Given the description of an element on the screen output the (x, y) to click on. 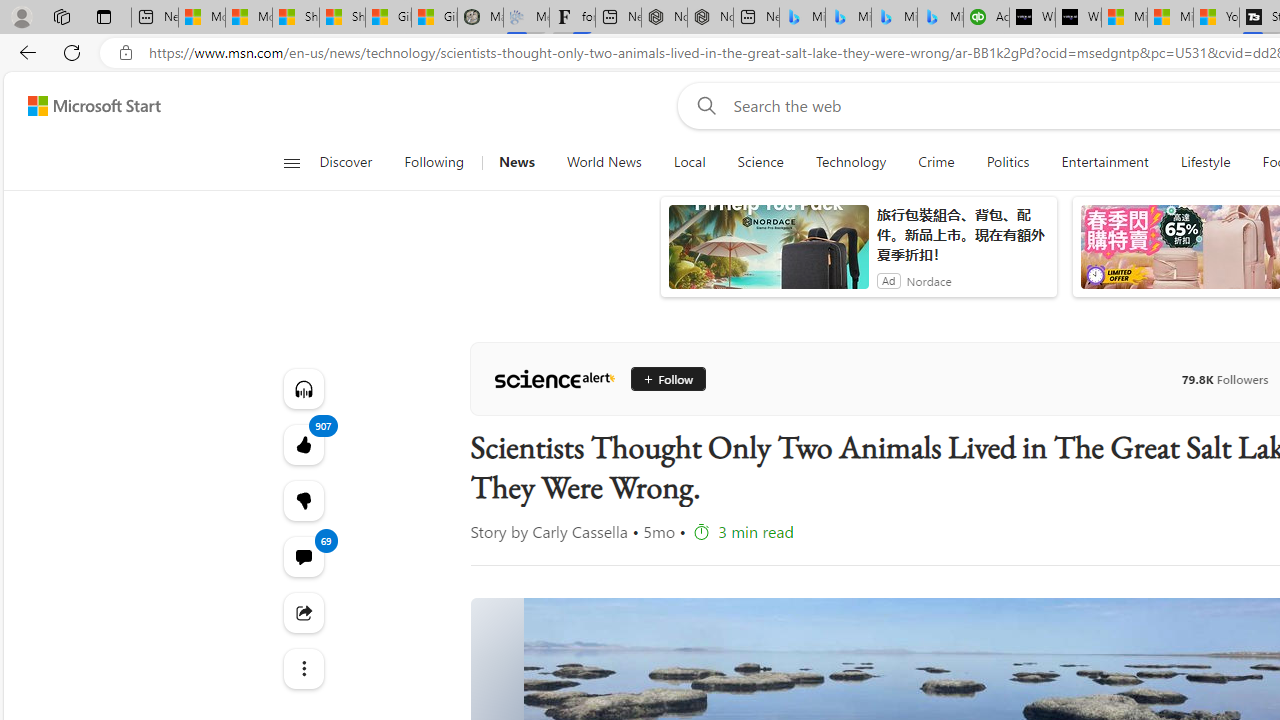
Microsoft Bing Travel - Shangri-La Hotel Bangkok (939, 17)
Local (688, 162)
Gilma and Hector both pose tropical trouble for Hawaii (434, 17)
See more (302, 668)
Microsoft Start (94, 105)
Manatee Mortality Statistics | FWC (480, 17)
Skip to content (86, 105)
Technology (850, 162)
Microsoft Bing Travel - Stays in Bangkok, Bangkok, Thailand (848, 17)
Microsoft Start (1170, 17)
See more (302, 668)
Science (760, 162)
Personal Profile (21, 16)
